Given the description of an element on the screen output the (x, y) to click on. 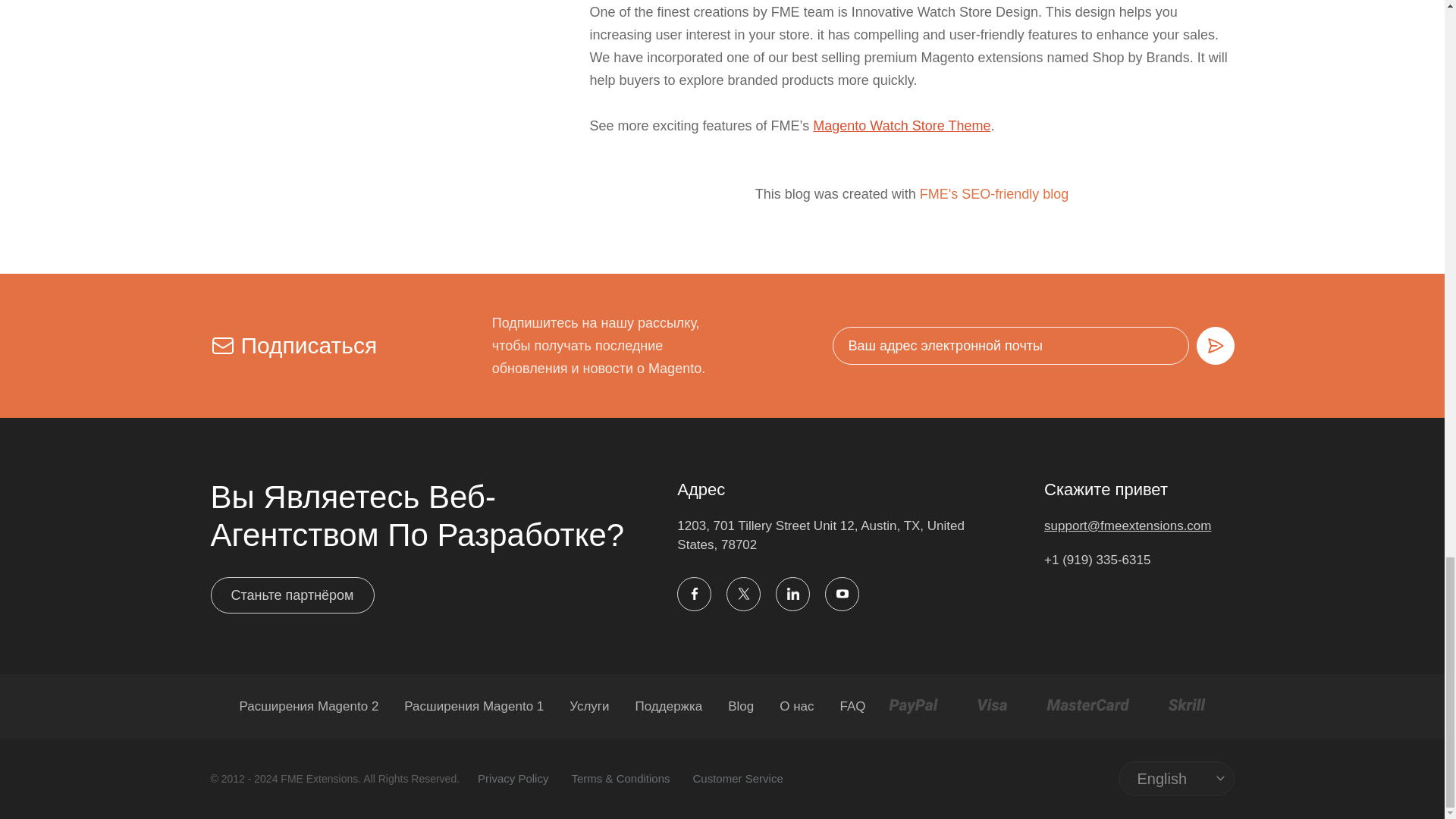
Privacy Policy (512, 778)
FAQ (853, 706)
FME's SEO-friendly blog (994, 193)
Magento Watch Store Theme (901, 125)
Blog (741, 706)
